Given the description of an element on the screen output the (x, y) to click on. 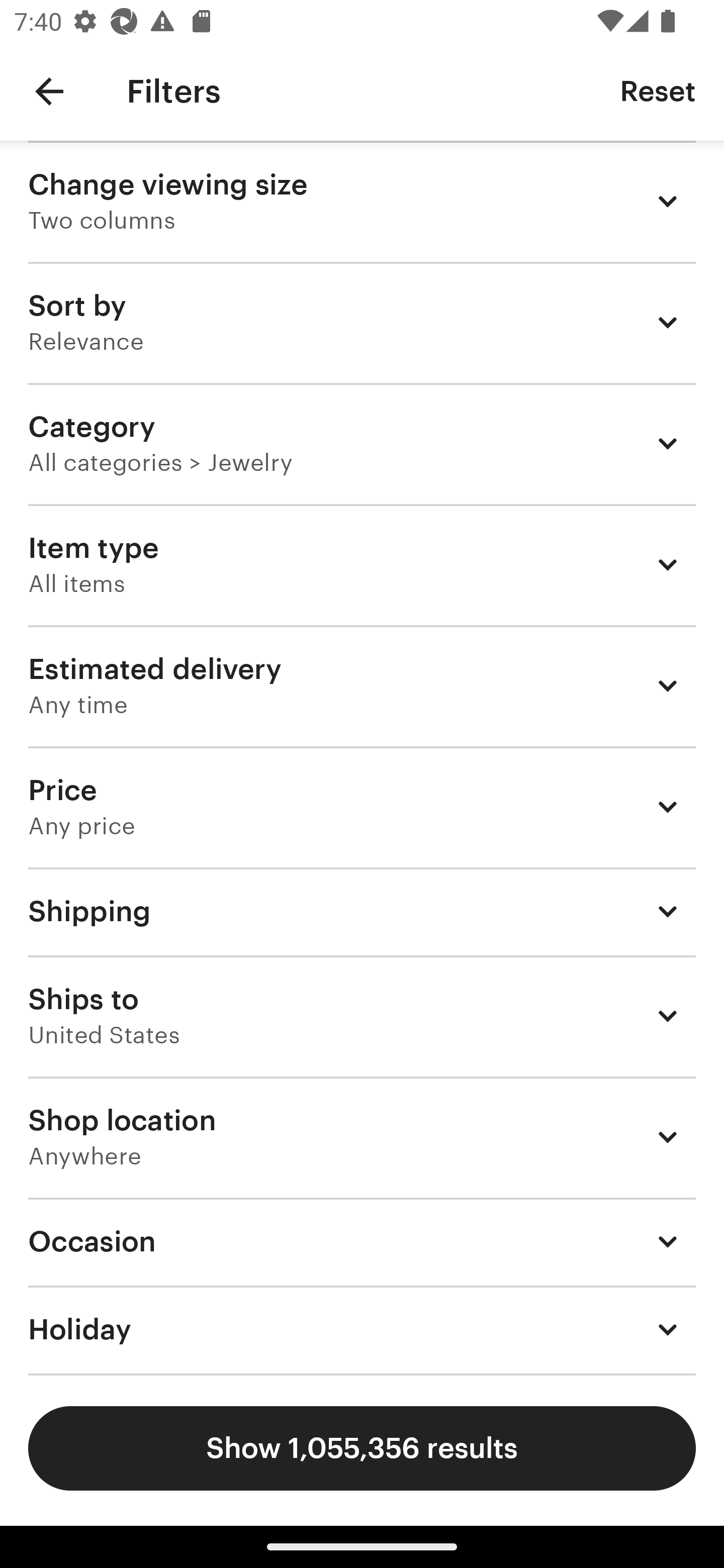
Navigate up (49, 91)
Reset (657, 90)
Change viewing size Two columns (362, 201)
Sort by Relevance (362, 321)
Category All categories > Jewelry (362, 442)
Item type All items (362, 564)
Estimated delivery Any time (362, 685)
Price Any price (362, 806)
Shipping (362, 910)
Ships to United States (362, 1015)
Shop location Anywhere (362, 1137)
Occasion (362, 1241)
Holiday (362, 1329)
Show 1,055,356 results Show results (361, 1448)
